Given the description of an element on the screen output the (x, y) to click on. 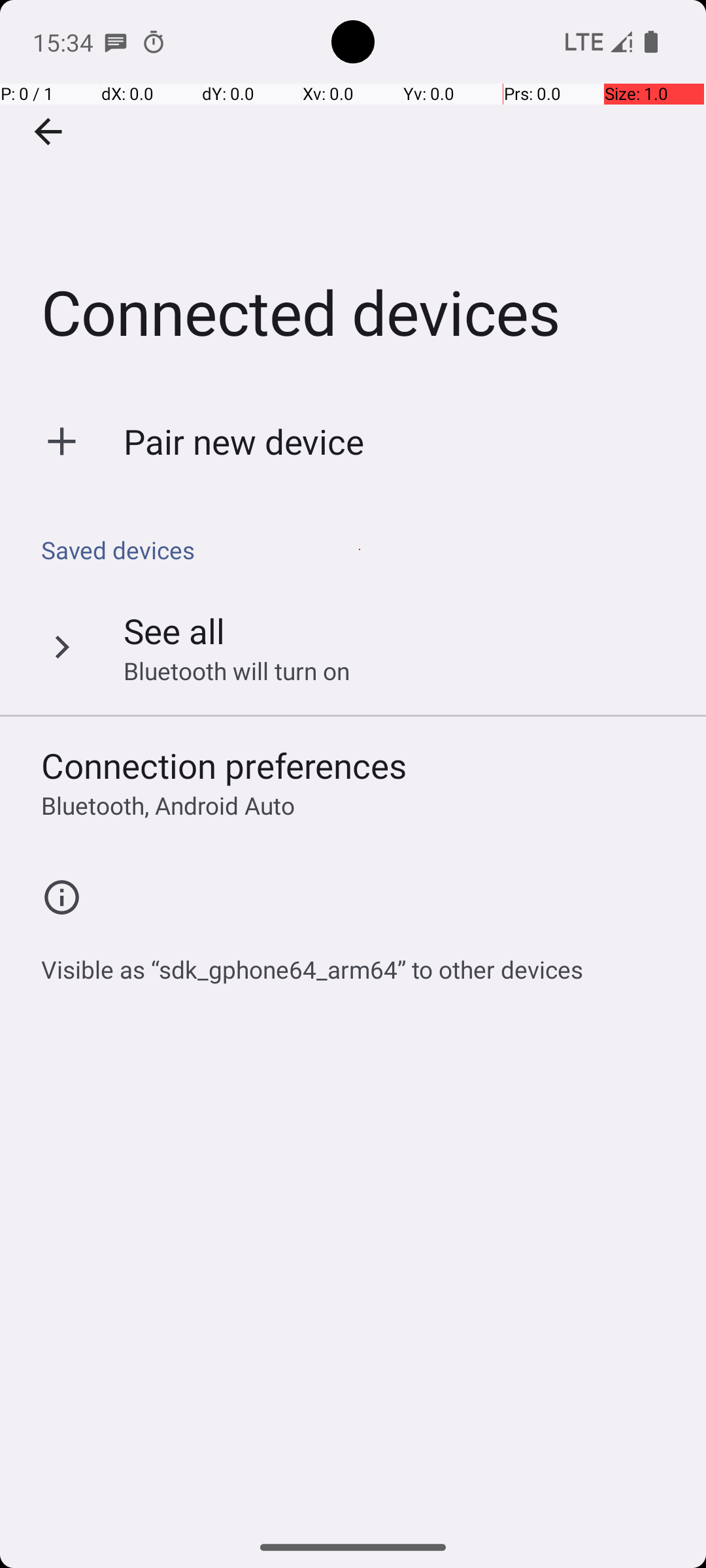
Bluetooth will turn on Element type: android.widget.TextView (236, 670)
Visible as “sdk_gphone64_arm64” to other devices Element type: android.widget.TextView (312, 962)
